Given the description of an element on the screen output the (x, y) to click on. 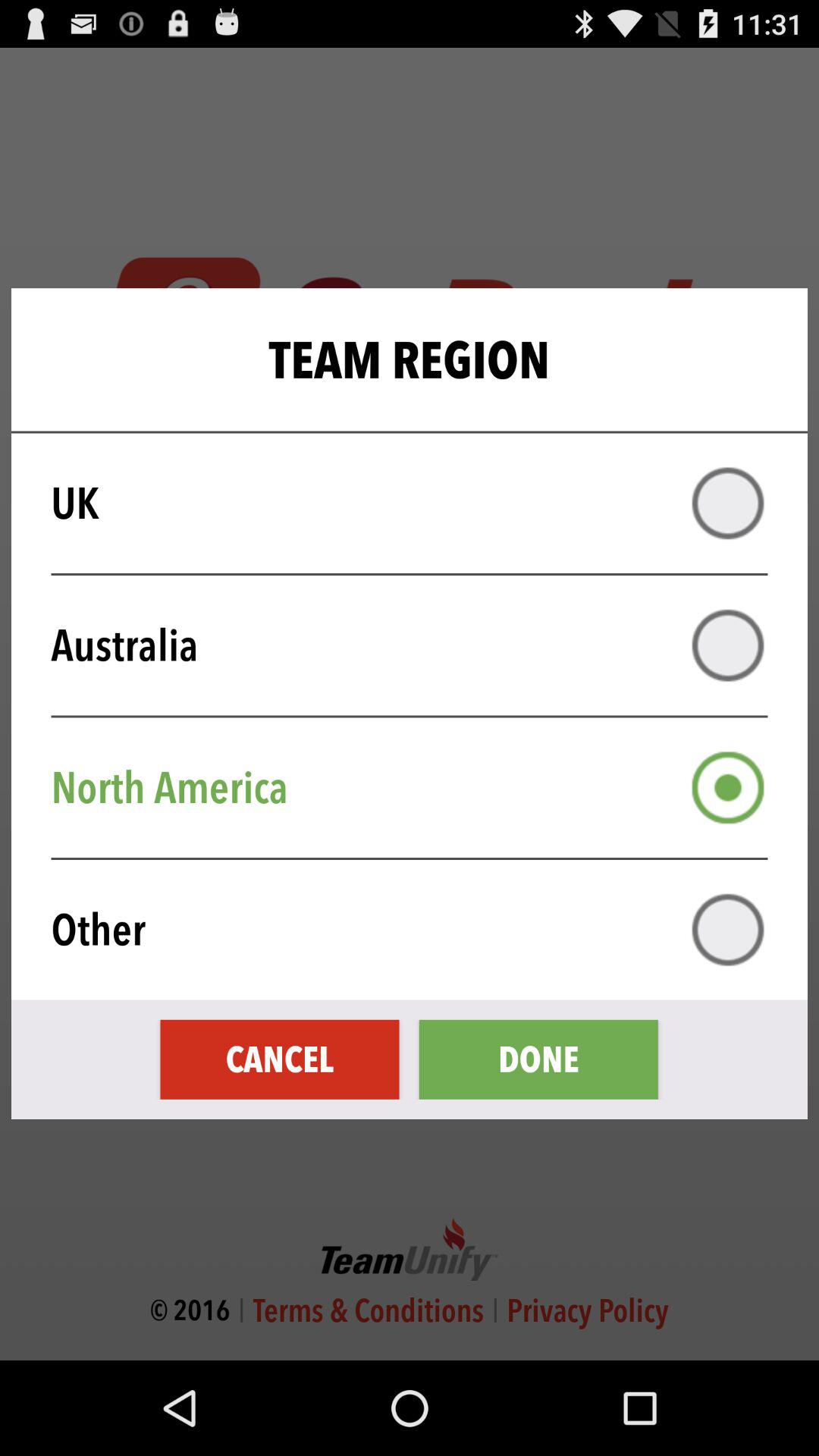
scroll until the north america item (419, 787)
